Given the description of an element on the screen output the (x, y) to click on. 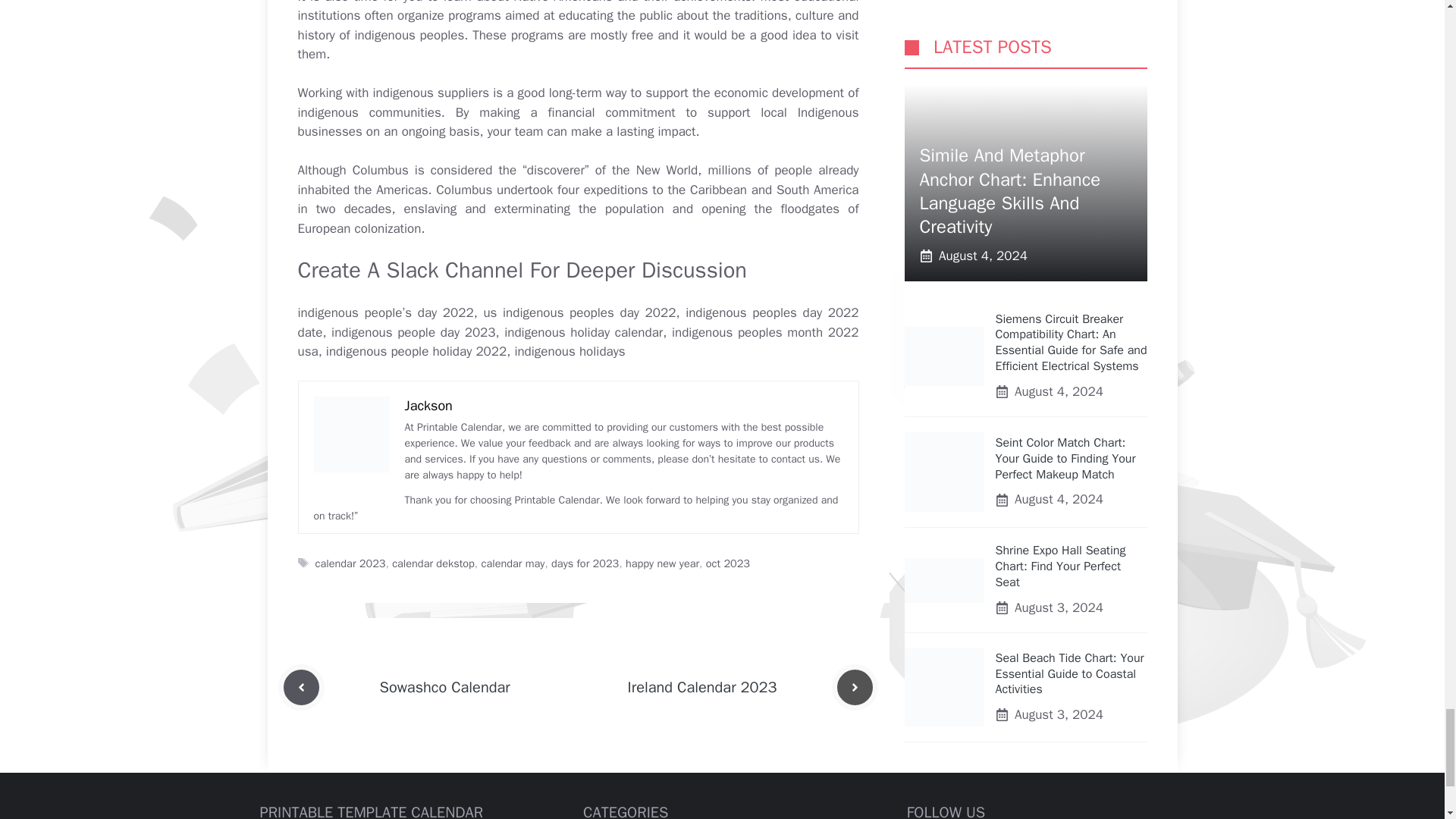
Sowashco Calendar (443, 687)
happy new year (662, 563)
calendar may (512, 563)
oct 2023 (727, 563)
days for 2023 (584, 563)
calendar dekstop (432, 563)
calendar 2023 (350, 563)
Jackson (428, 405)
Ireland Calendar 2023 (702, 687)
